Given the description of an element on the screen output the (x, y) to click on. 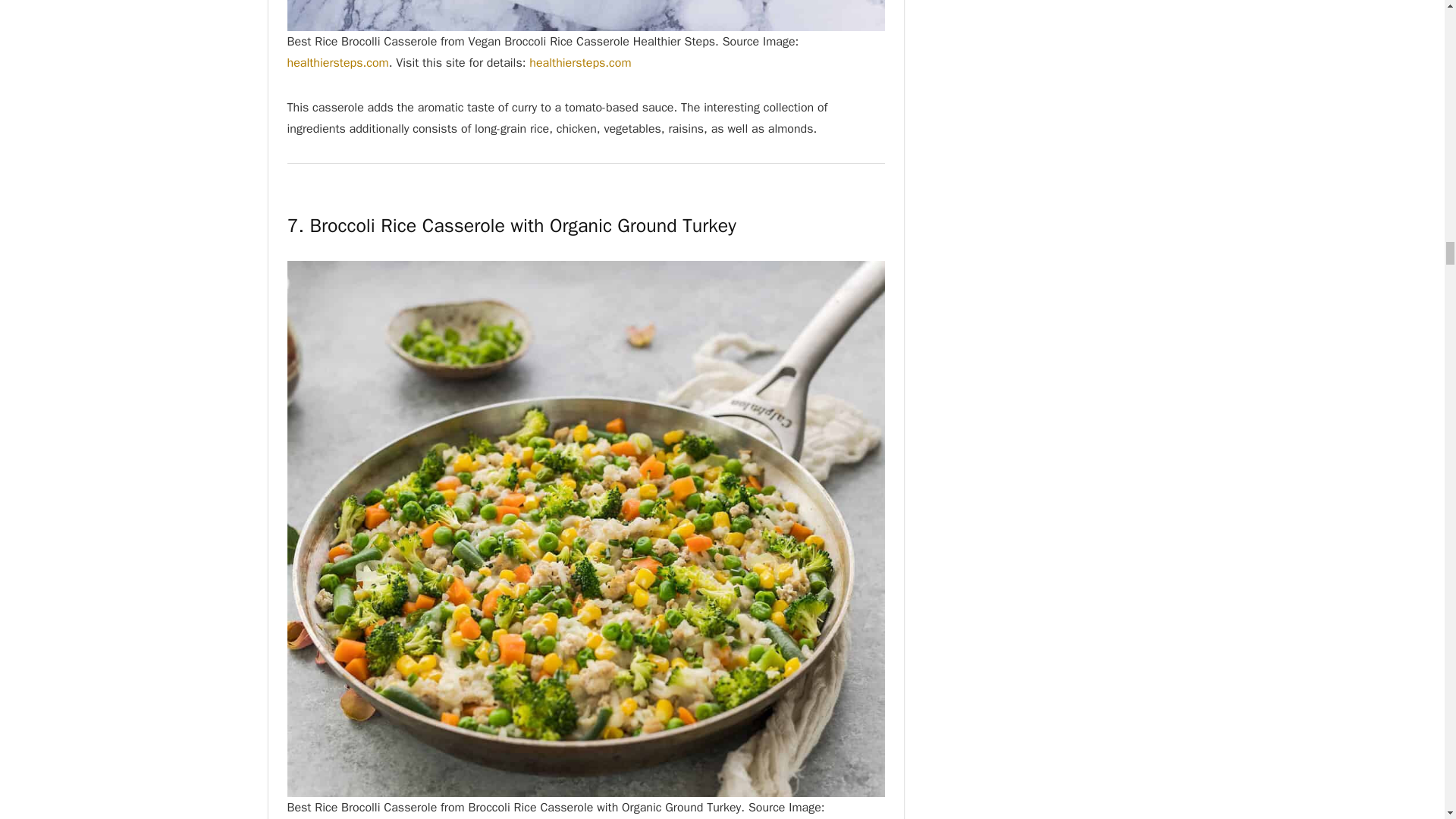
healthiersteps.com (579, 62)
vegan broccoli rice casserole (584, 15)
healthiersteps.com (337, 62)
